Given the description of an element on the screen output the (x, y) to click on. 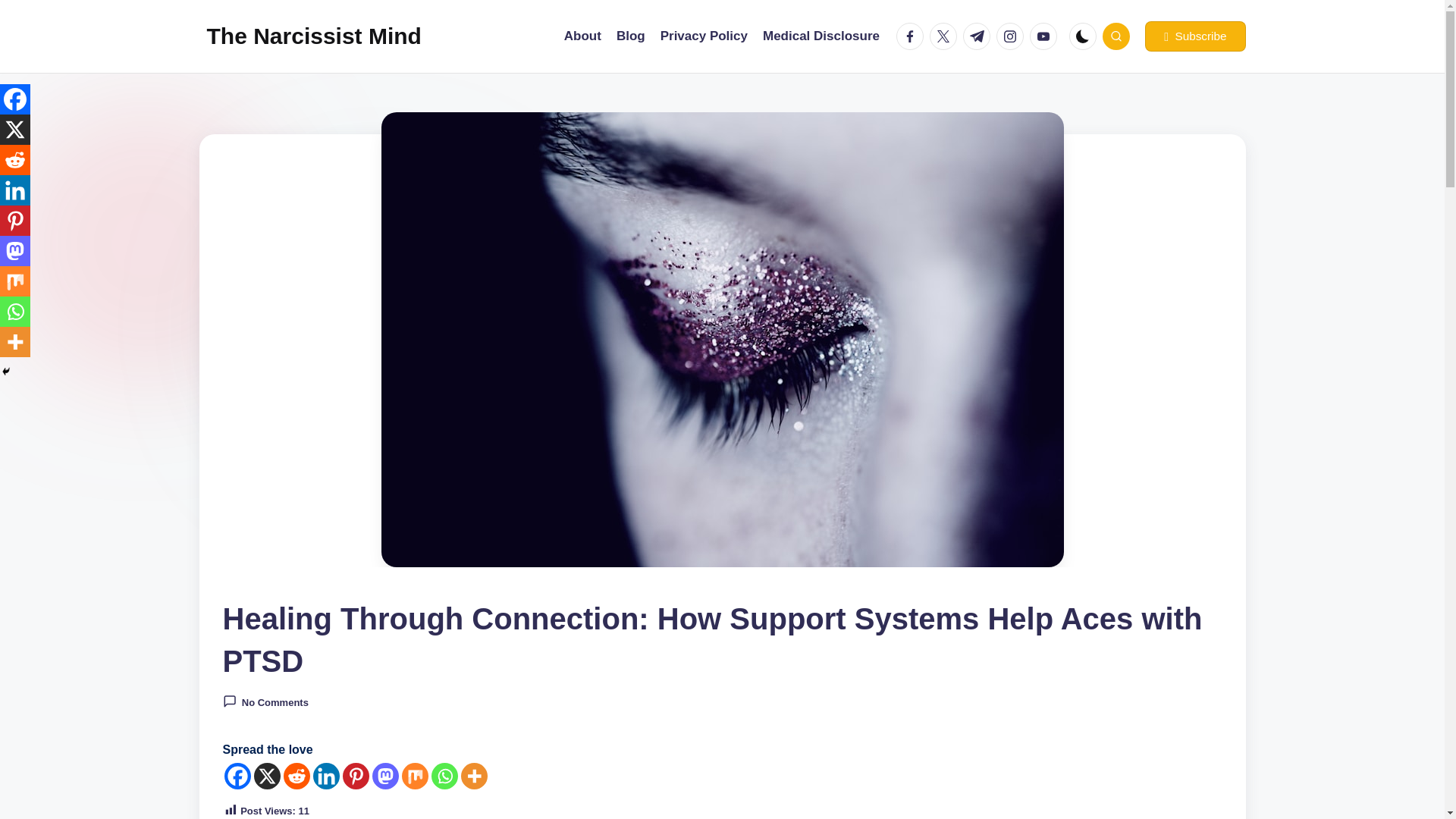
The Narcissist Mind (313, 36)
twitter.com (946, 35)
Facebook (15, 99)
Mix (414, 775)
Privacy Policy (704, 36)
Linkedin (15, 190)
Subscribe (1194, 36)
t.me (978, 35)
X (266, 775)
Linkedin (326, 775)
About (582, 36)
Medical Disclosure (820, 36)
Mastodon (384, 775)
Whatsapp (443, 775)
Pinterest (355, 775)
